Given the description of an element on the screen output the (x, y) to click on. 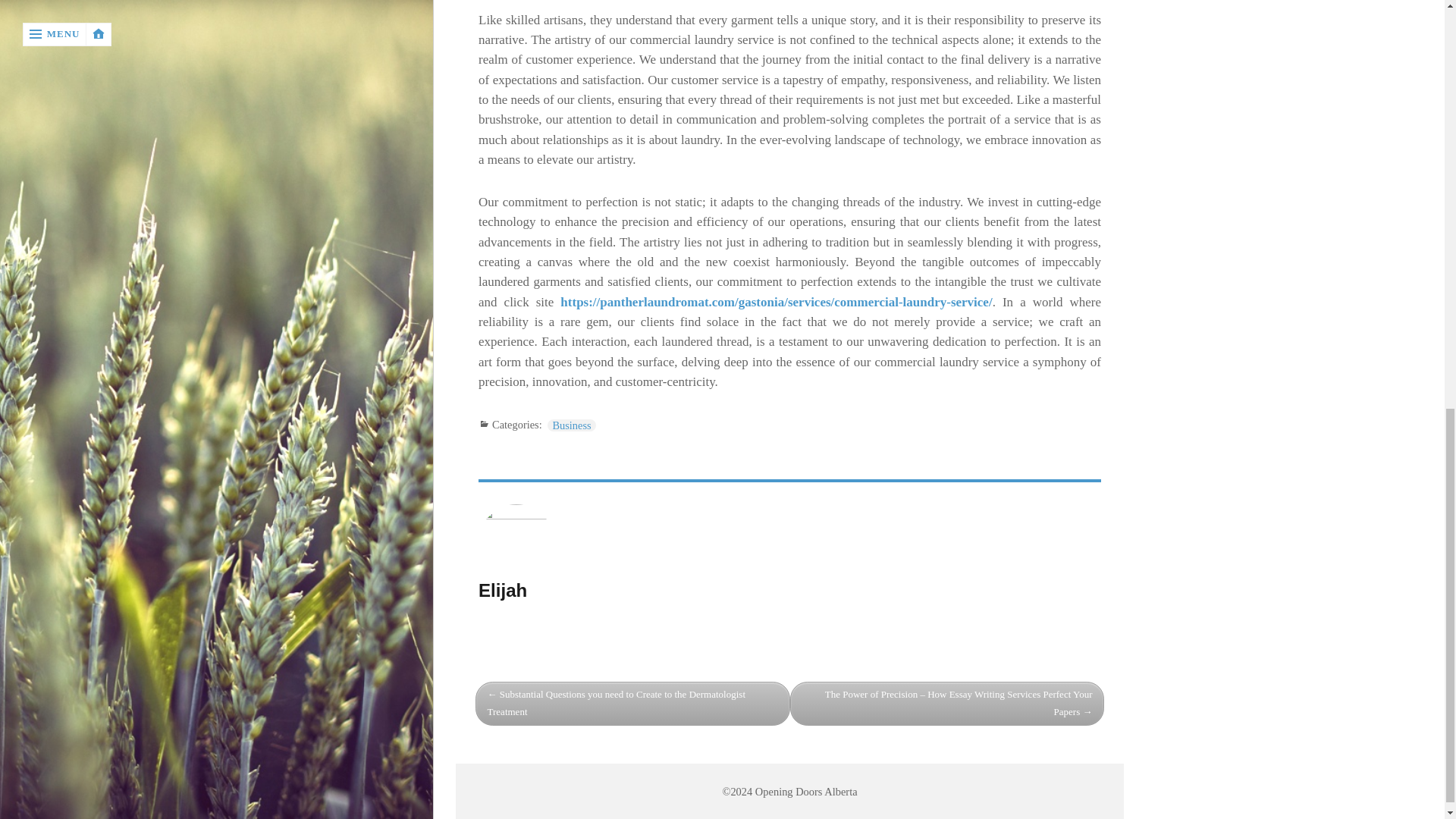
Business (571, 425)
